Given the description of an element on the screen output the (x, y) to click on. 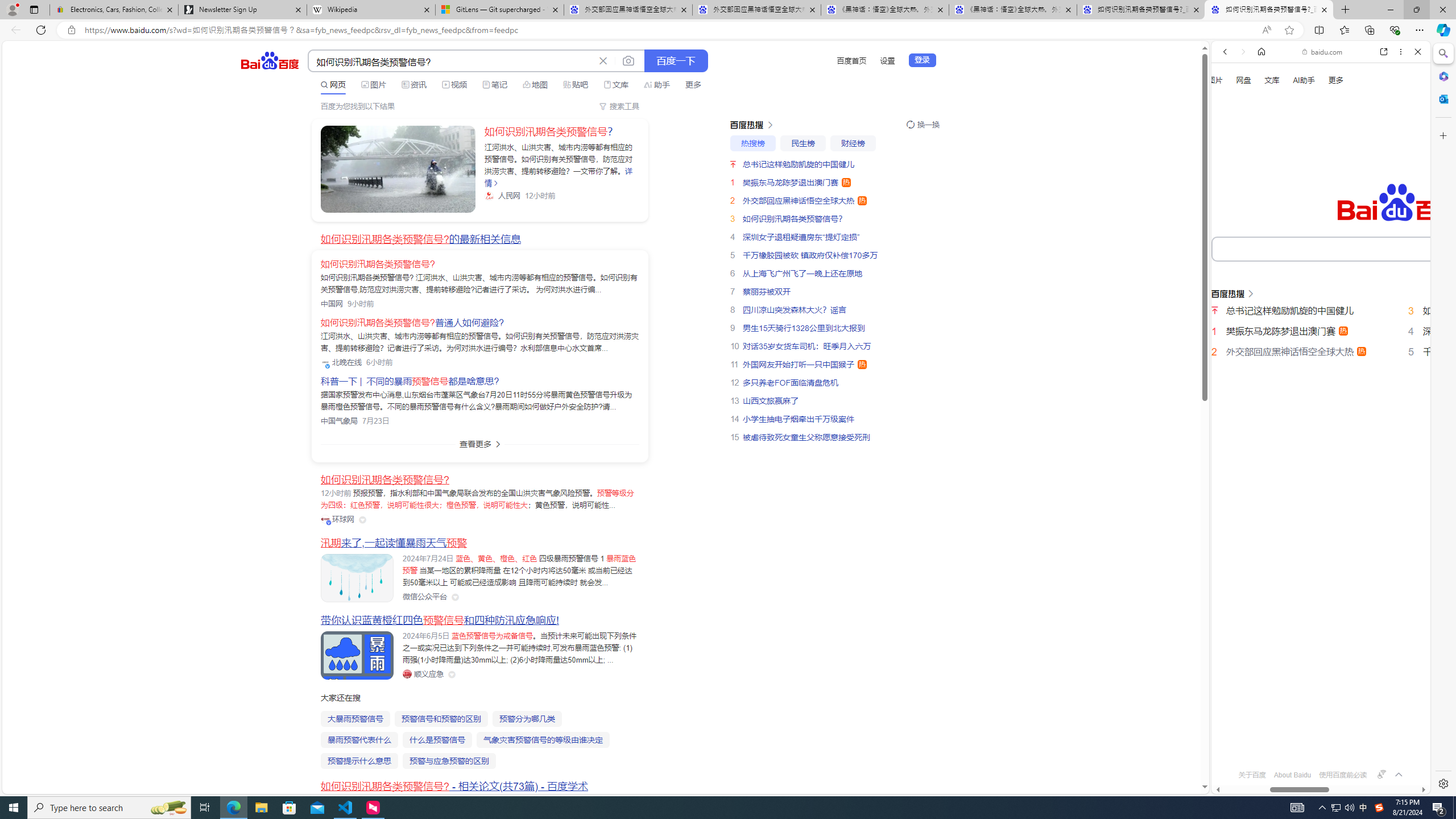
Learn more (1264, 154)
Newsletter Sign Up (242, 9)
WEB   (1230, 192)
